Given the description of an element on the screen output the (x, y) to click on. 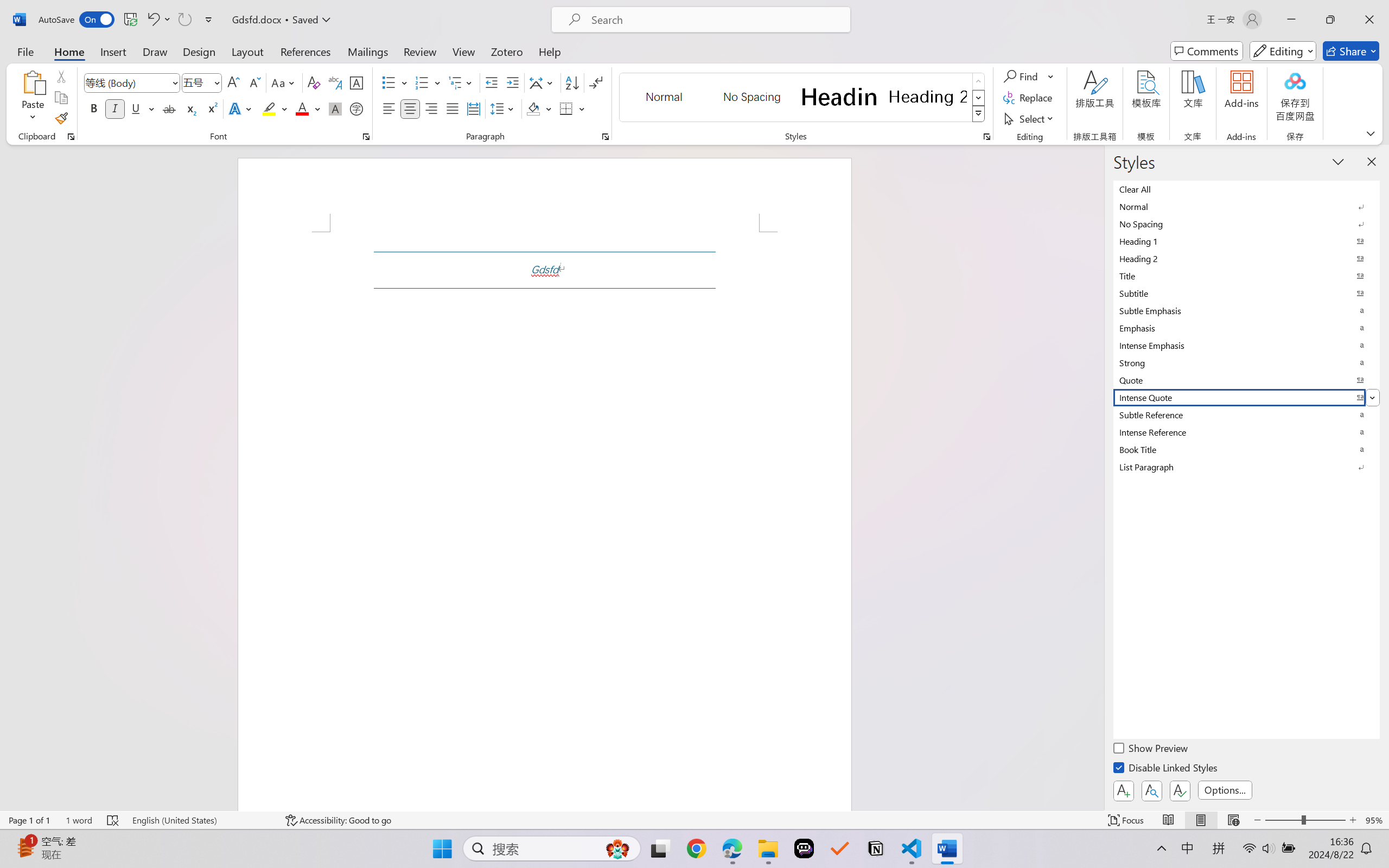
Intense Emphasis (1246, 345)
Heading 1 (839, 96)
Subtle Emphasis (1246, 310)
Asian Layout (542, 82)
Phonetic Guide... (334, 82)
Book Title (1246, 449)
